Given the description of an element on the screen output the (x, y) to click on. 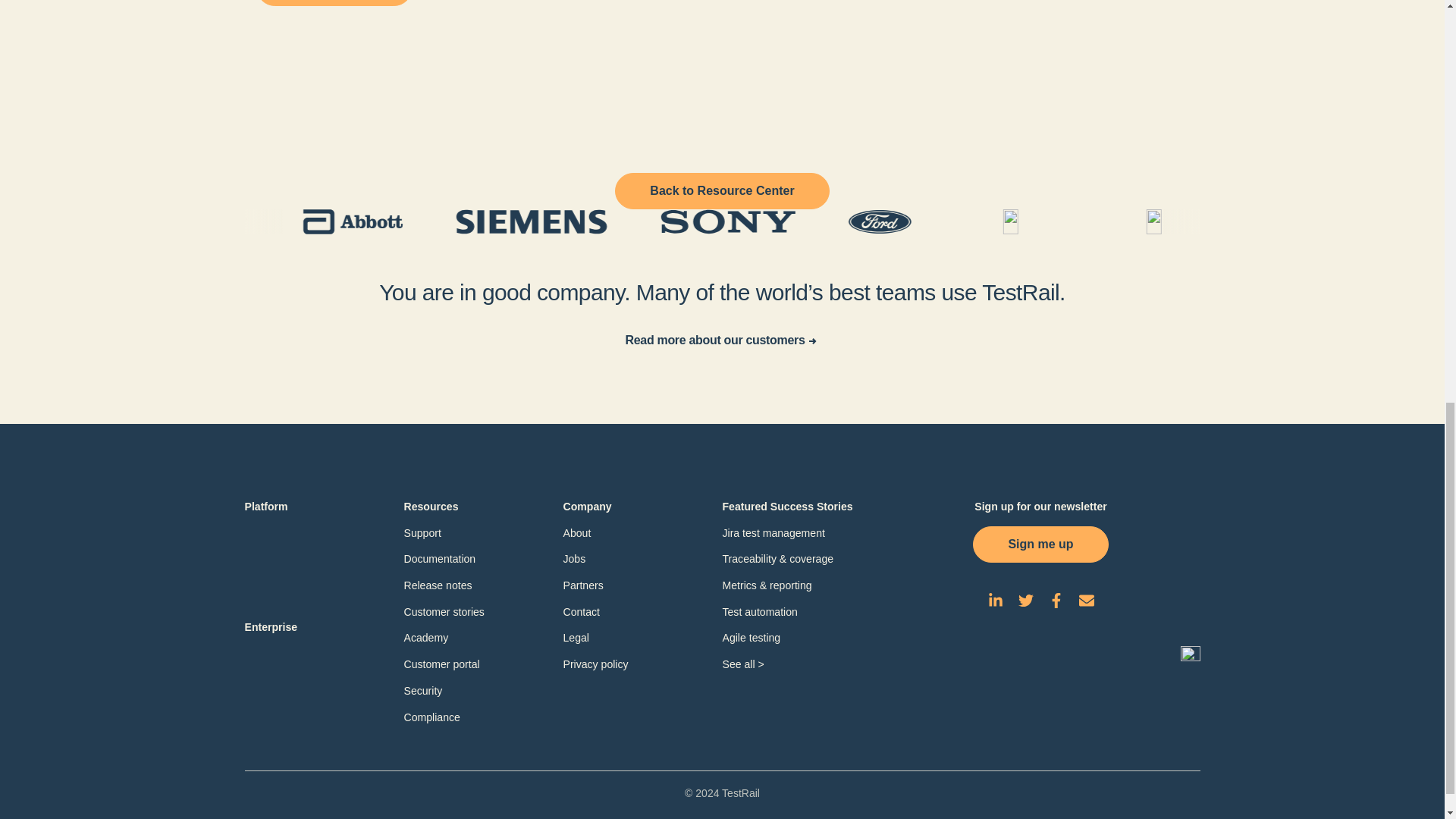
Partners (582, 585)
Back to Resource Center (721, 190)
Customer stories (443, 612)
About (576, 532)
Privacy policy (594, 664)
Legal (575, 637)
Support (422, 532)
Download Now (334, 2)
Contact (580, 612)
Compliance (431, 717)
Academy (425, 637)
Read more about our customers (722, 340)
Platform (265, 507)
Documentation (439, 558)
Enterprise (270, 627)
